Given the description of an element on the screen output the (x, y) to click on. 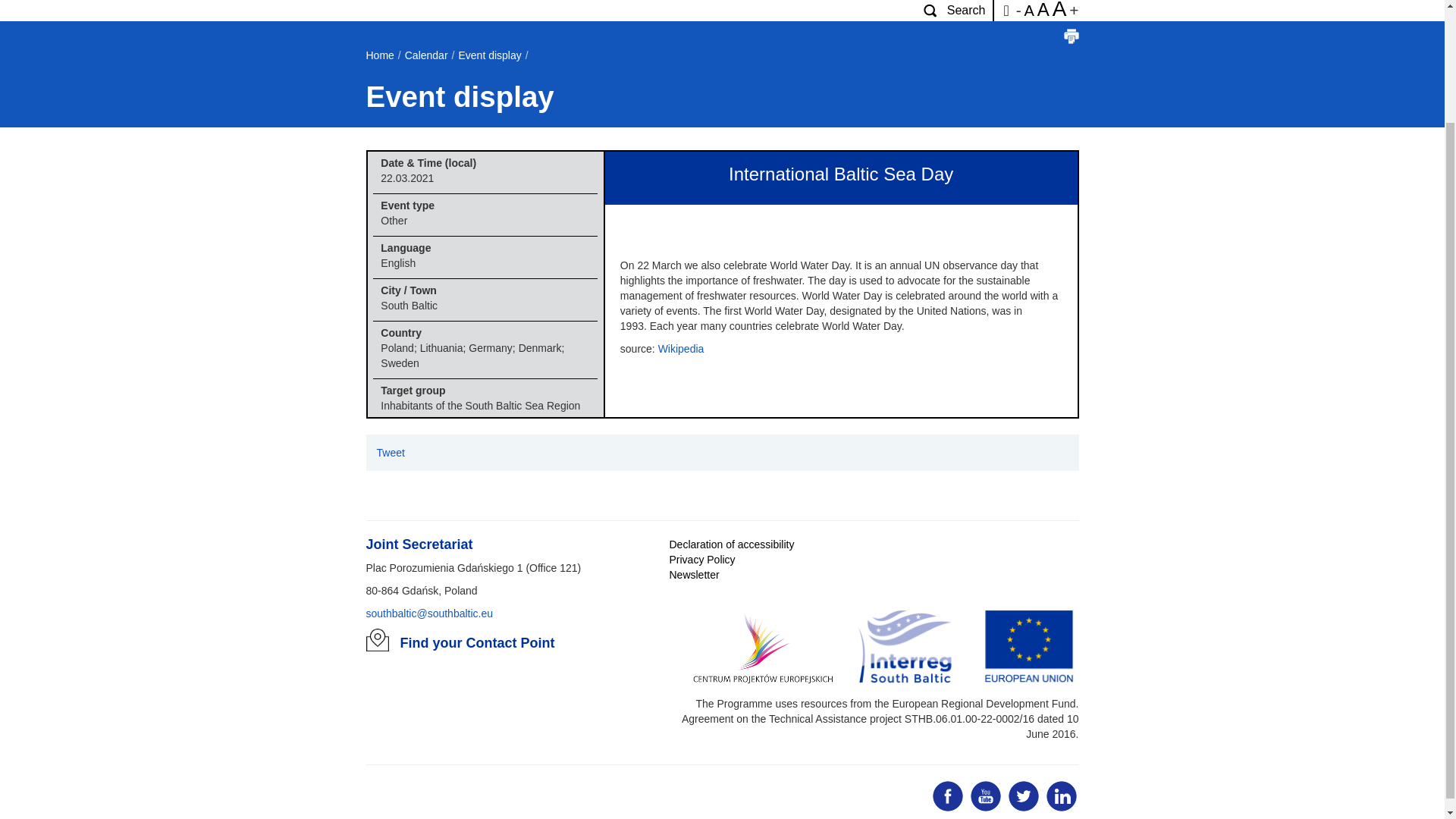
Wikipedia (681, 348)
Find your Contact Point (477, 642)
Search (954, 10)
Event display (489, 55)
Joint Secretariat (418, 544)
Calendar (426, 55)
Privacy Policy (701, 559)
Home (379, 55)
Newsletter (693, 574)
Declaration of accessibility (730, 544)
Tweet (389, 452)
